Given the description of an element on the screen output the (x, y) to click on. 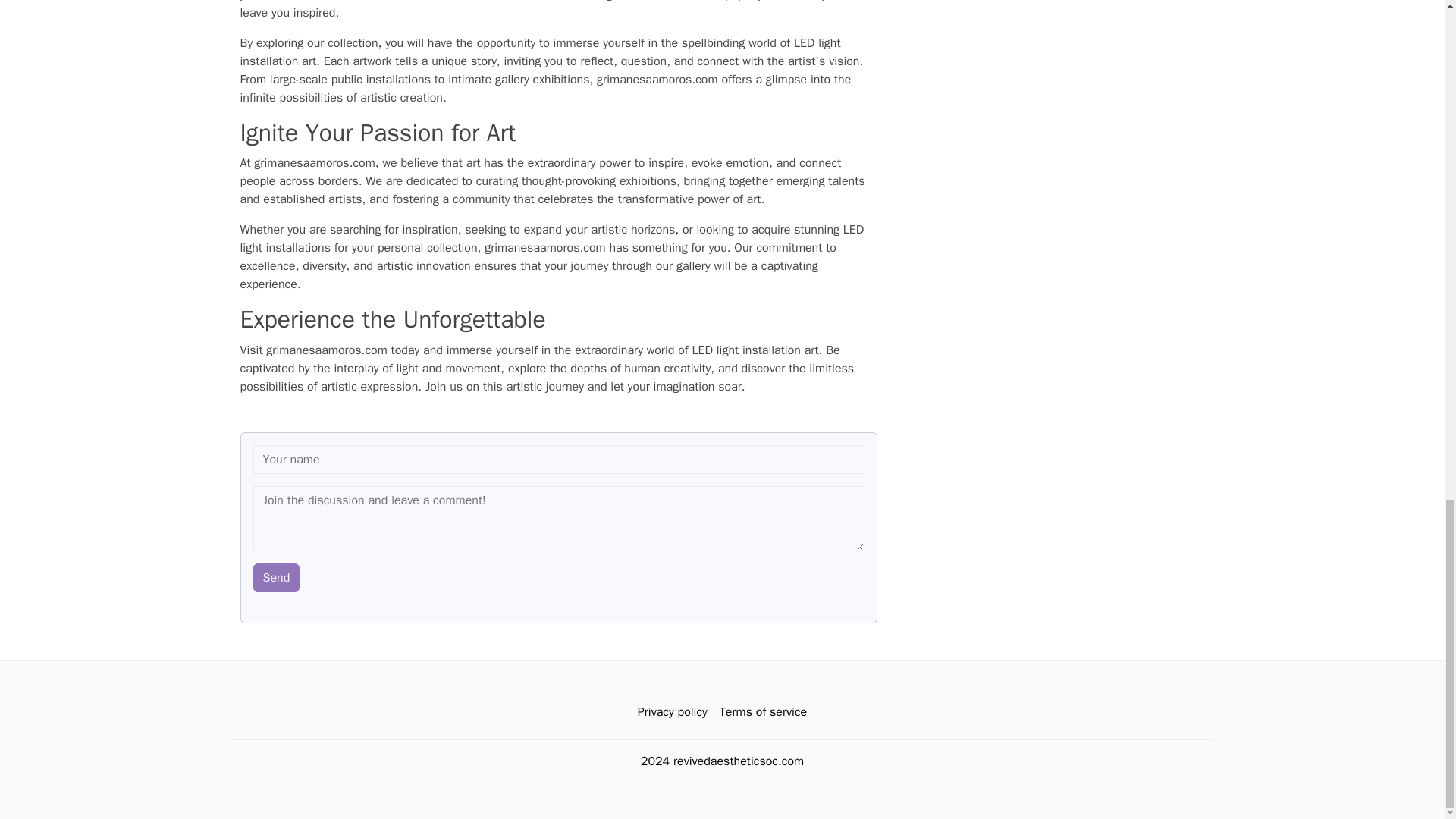
Privacy policy (672, 711)
Send (276, 577)
Terms of service (762, 711)
Send (276, 577)
